Given the description of an element on the screen output the (x, y) to click on. 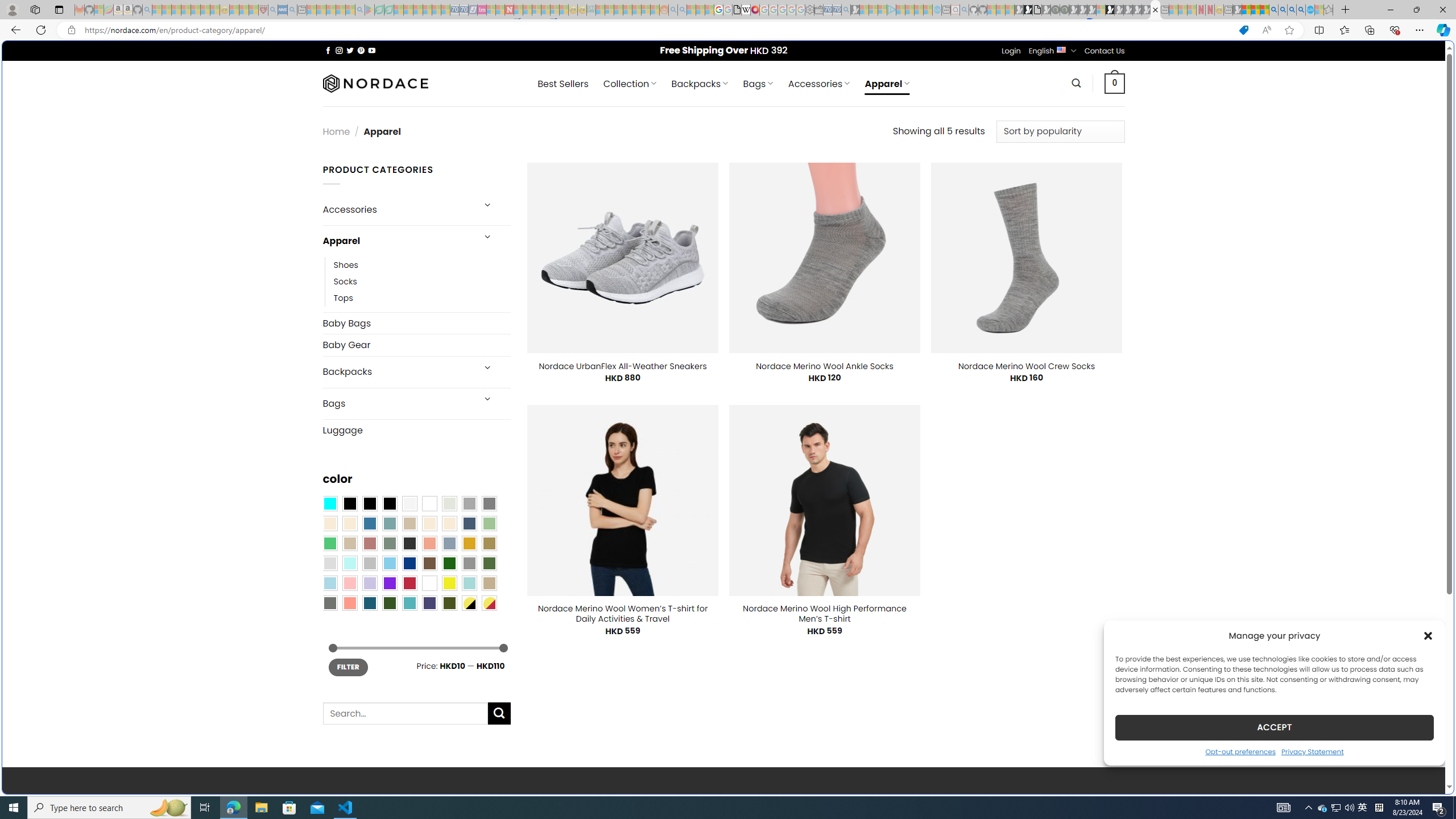
Yellow-Red (488, 602)
Coral (429, 542)
Dull Nickle (329, 602)
Baby Gear (416, 345)
Services - Maintenance | Sky Blue Bikes - Sky Blue Bikes (1309, 9)
Follow on YouTube (371, 49)
Luggage (416, 430)
Black-Brown (389, 503)
Tabs you've opened (885, 151)
Baby Bags (416, 323)
Jobs - lastminute.com Investor Portal - Sleeping (482, 9)
